Given the description of an element on the screen output the (x, y) to click on. 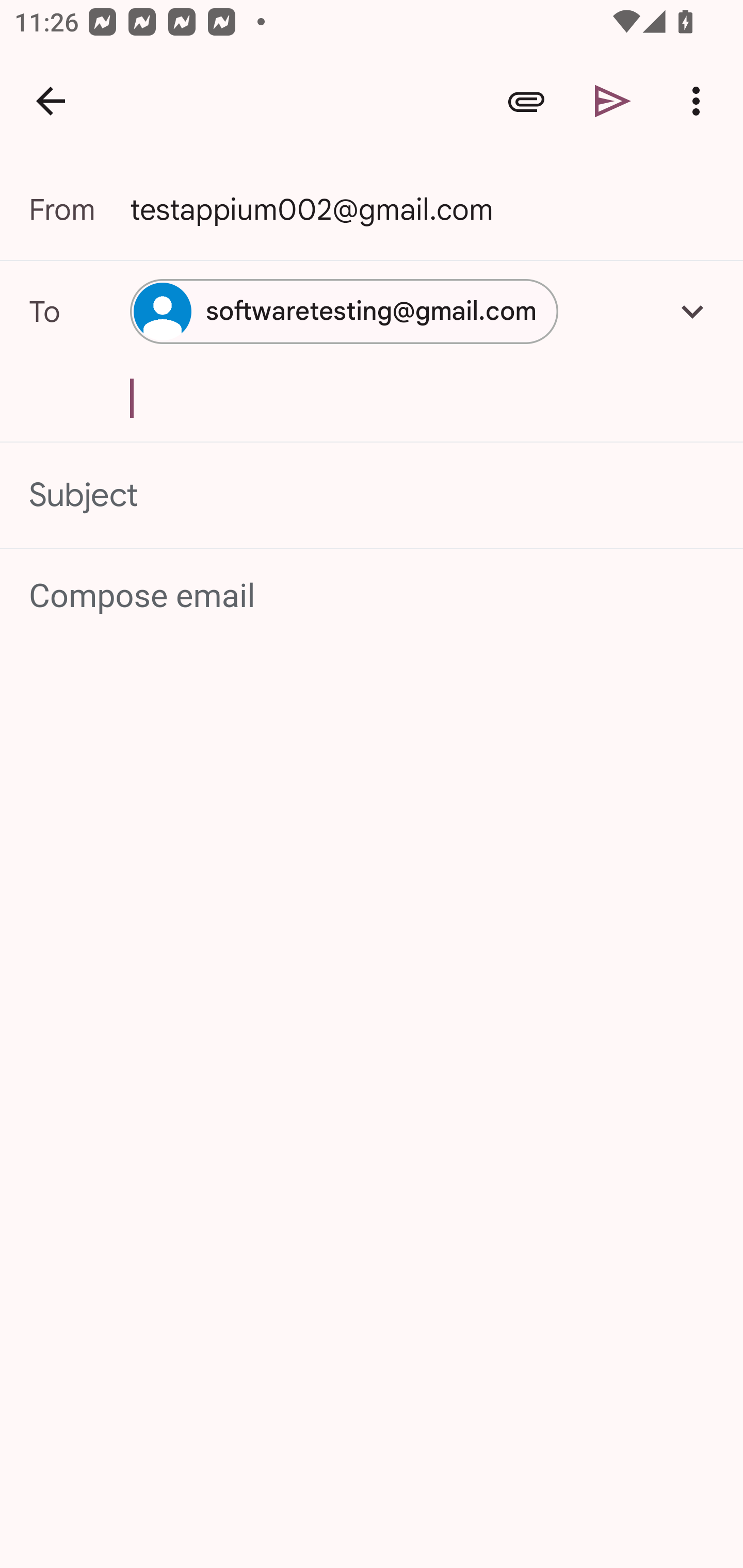
Navigate up (50, 101)
Attach file (525, 101)
Send (612, 101)
More options (699, 101)
From (79, 209)
Add Cc/Bcc (692, 311)
Subject (371, 494)
Compose email (372, 595)
